Given the description of an element on the screen output the (x, y) to click on. 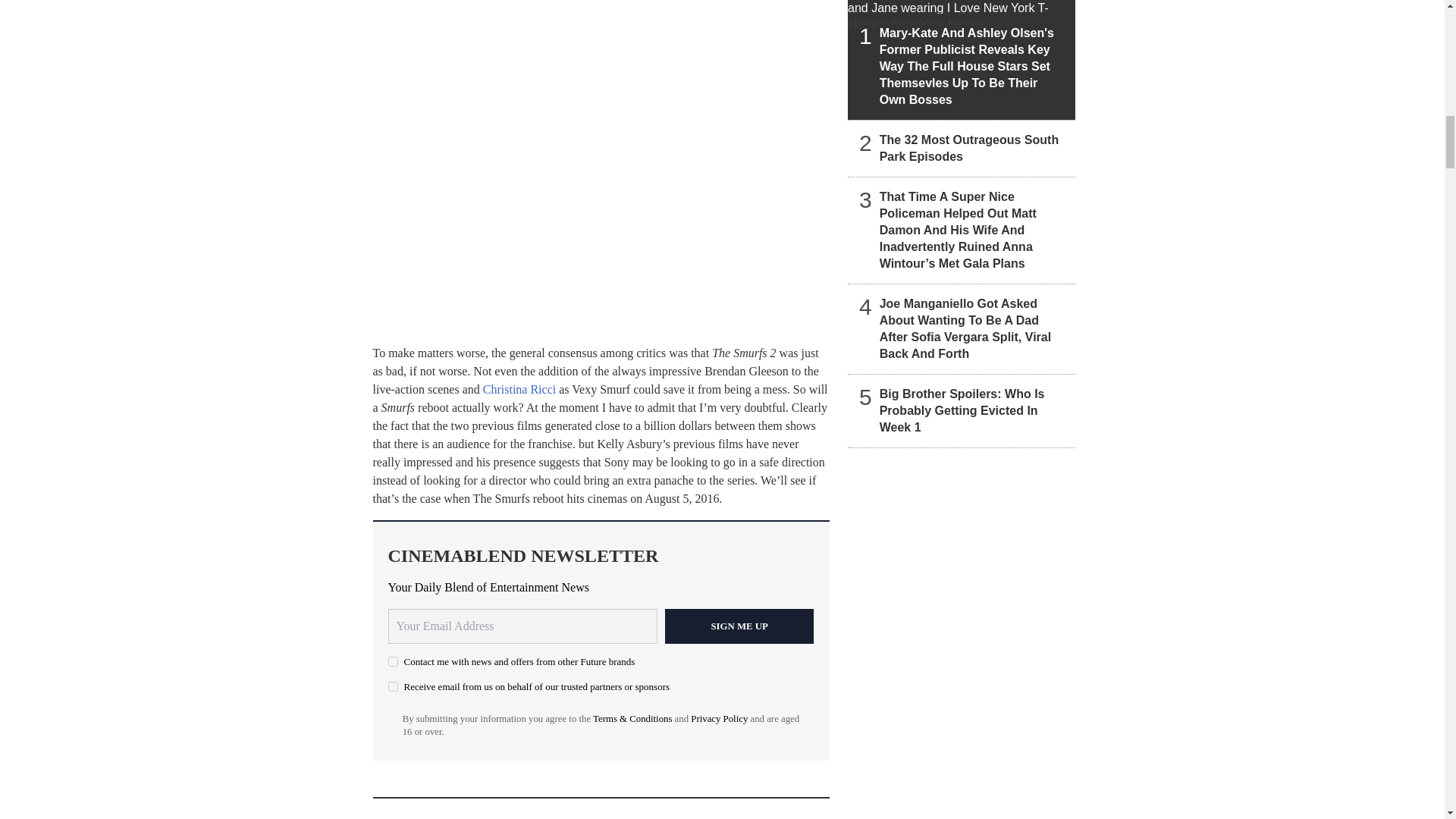
Sign me up (739, 626)
on (392, 661)
on (392, 686)
